Given the description of an element on the screen output the (x, y) to click on. 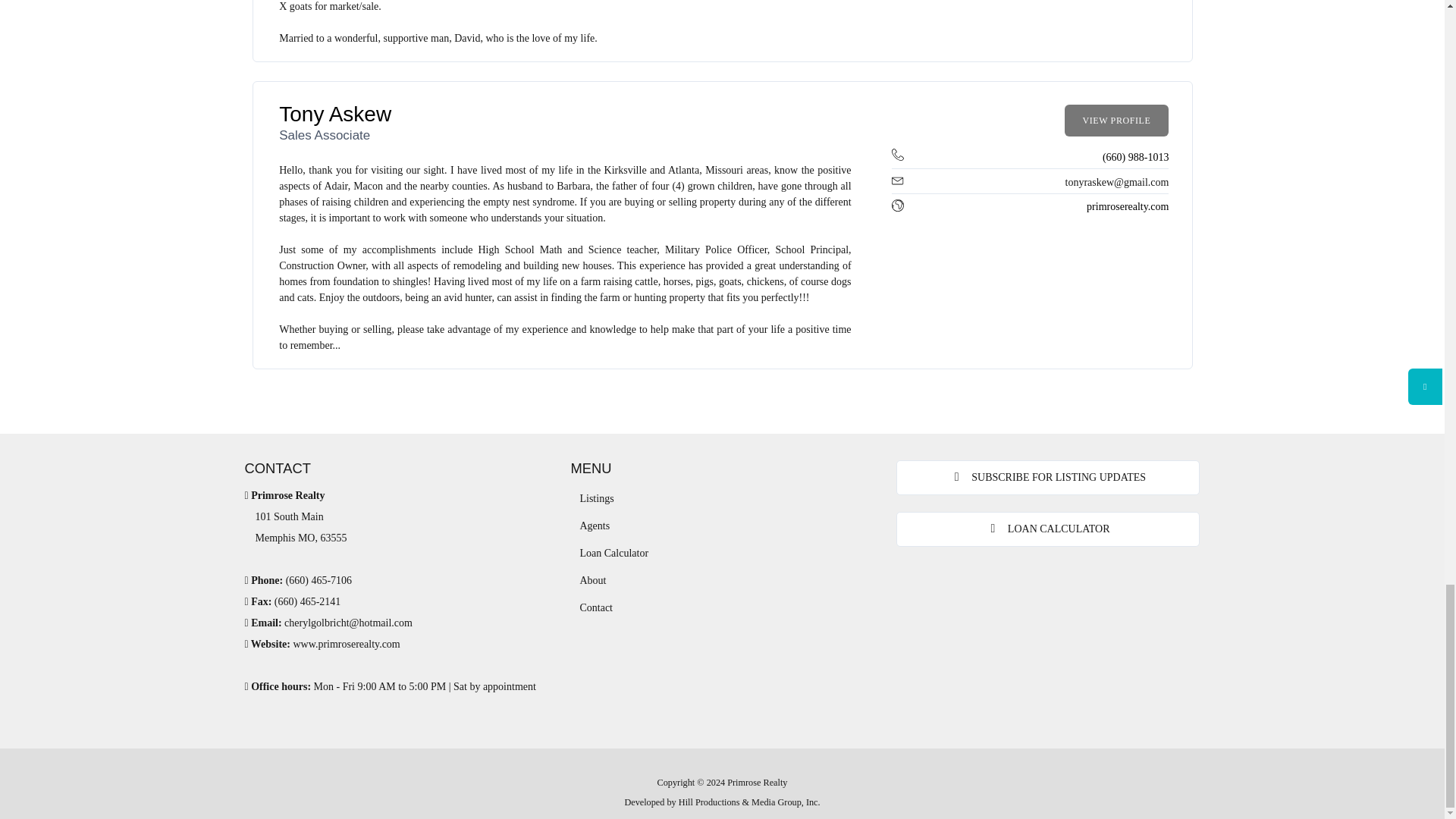
Call us today (318, 580)
Fax (307, 601)
Tony Askew (335, 114)
